Given the description of an element on the screen output the (x, y) to click on. 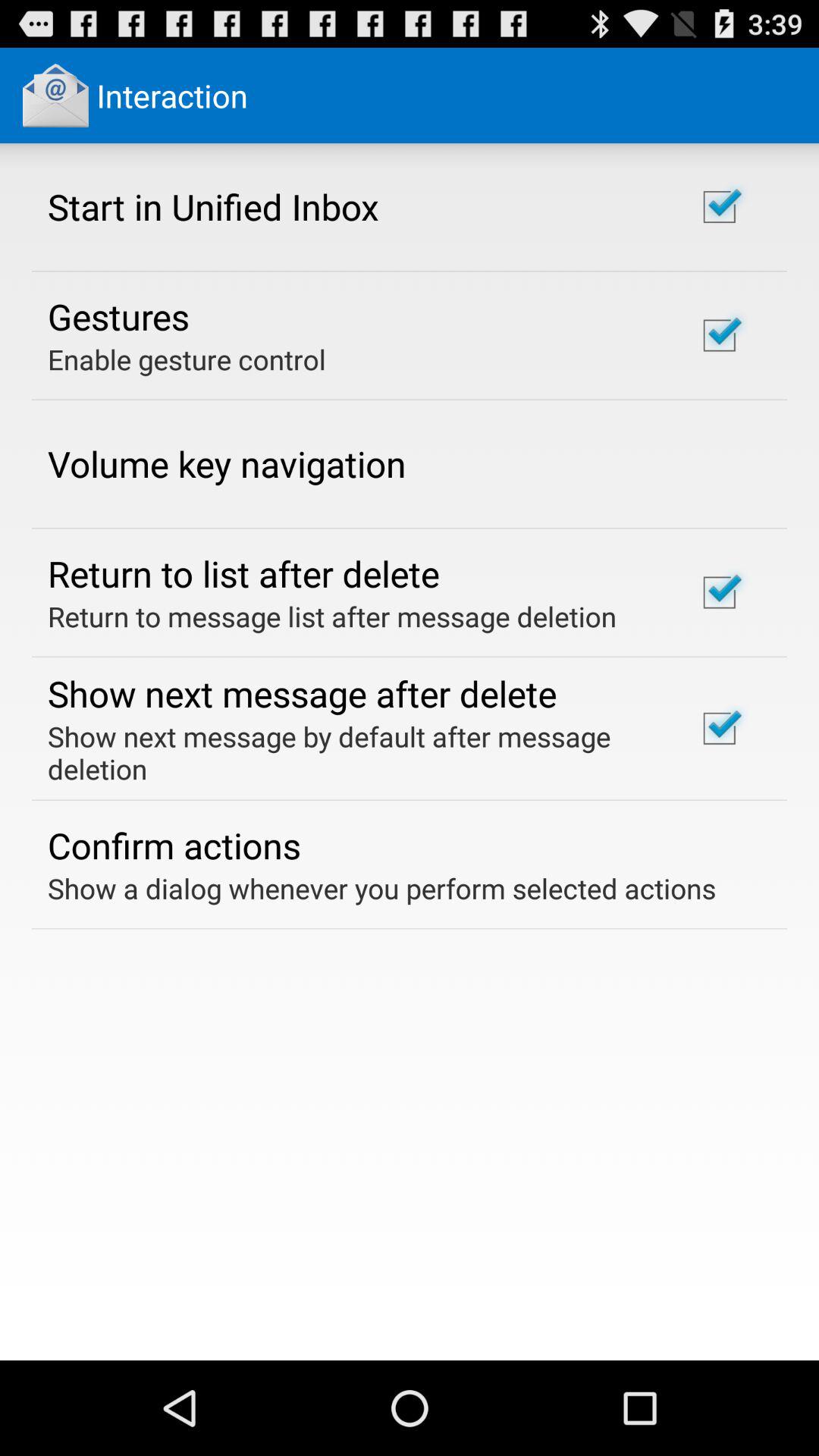
jump to gestures item (118, 316)
